Given the description of an element on the screen output the (x, y) to click on. 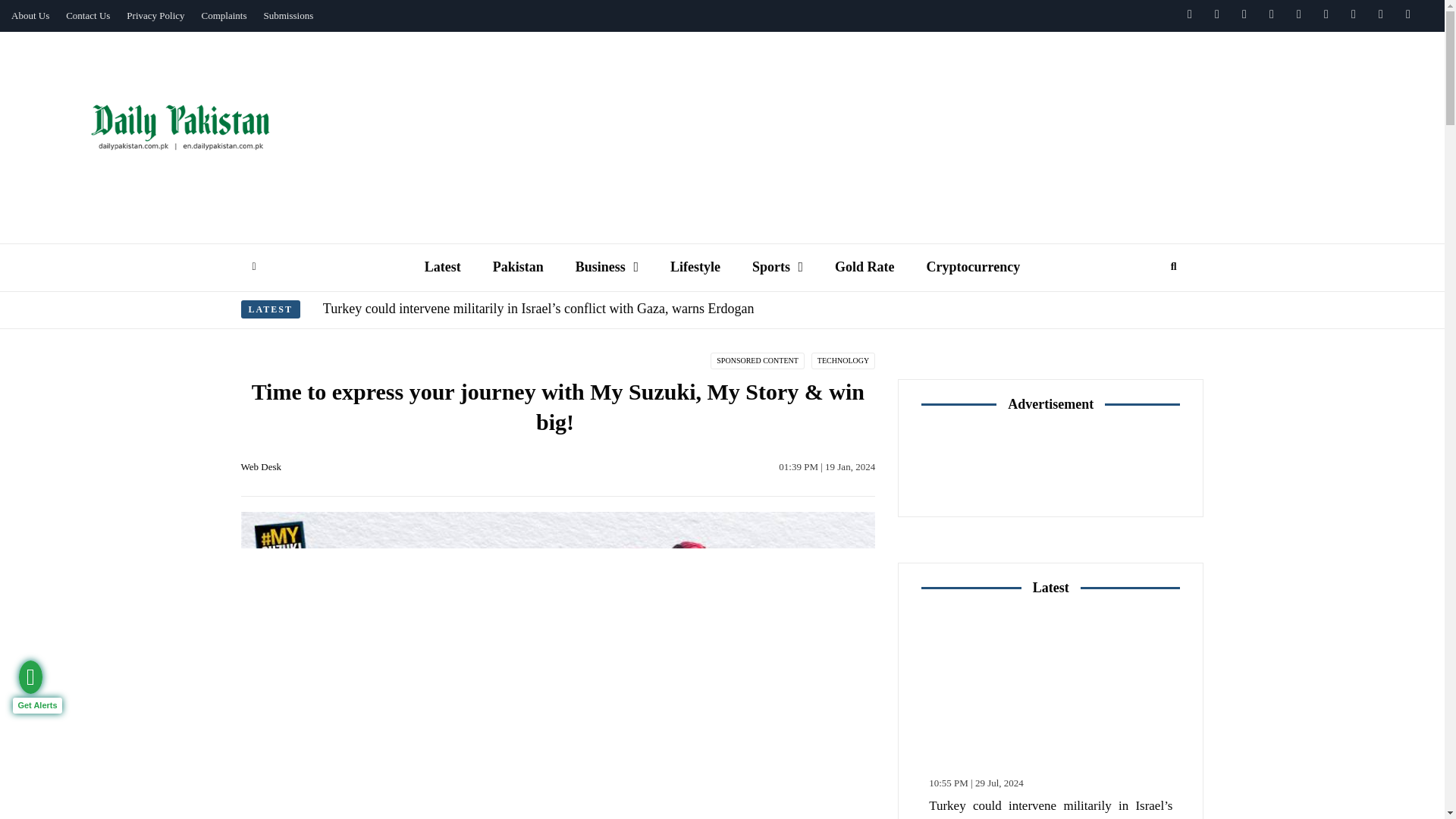
Latest (443, 266)
Complaints (224, 15)
Lifestyle (694, 266)
About Us (30, 15)
Contact Us (87, 15)
Privacy Policy (155, 15)
Business (606, 266)
Pakistan (518, 266)
Submissions (288, 15)
Sports (777, 266)
